Given the description of an element on the screen output the (x, y) to click on. 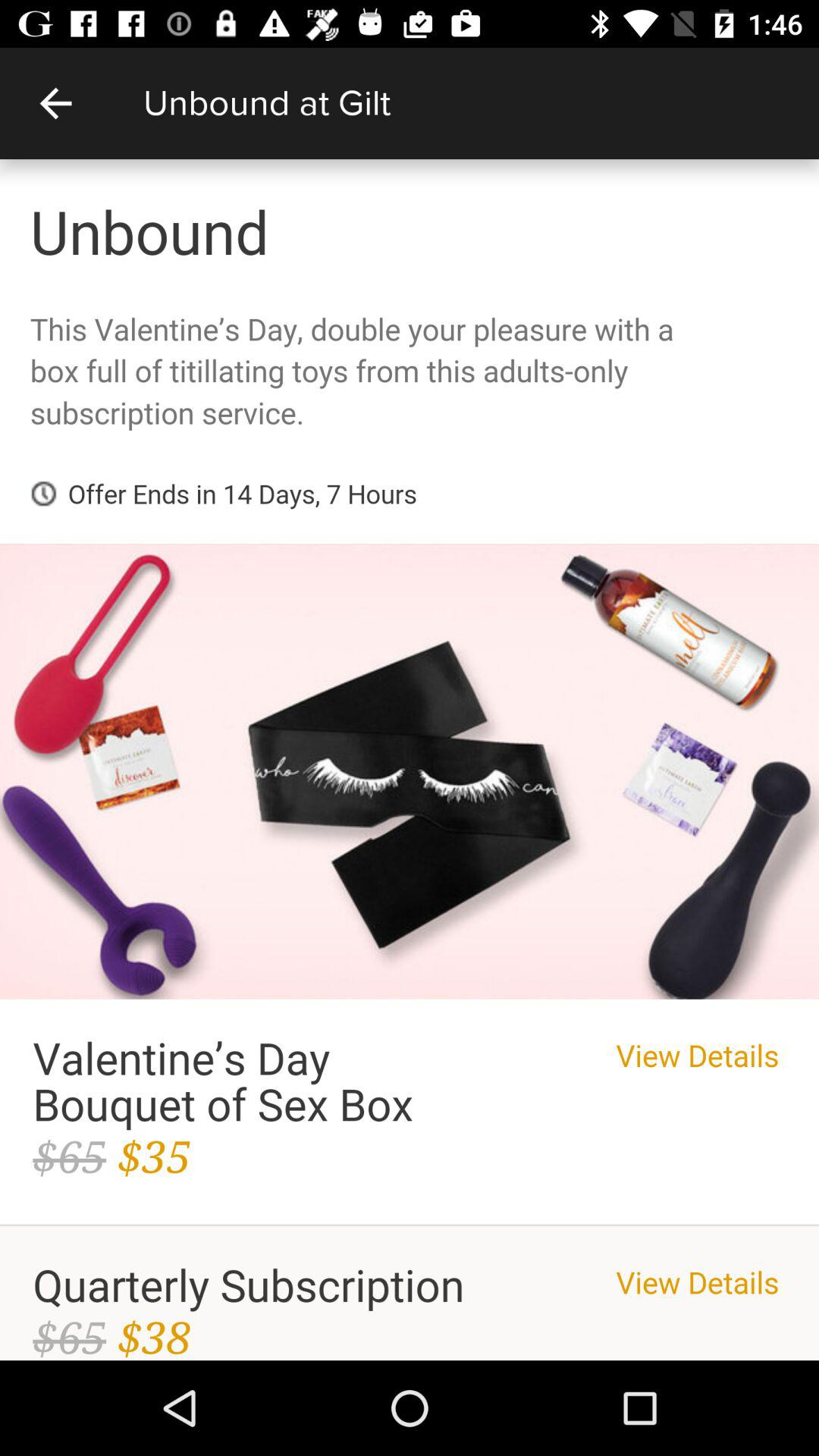
for adverisment (409, 759)
